Given the description of an element on the screen output the (x, y) to click on. 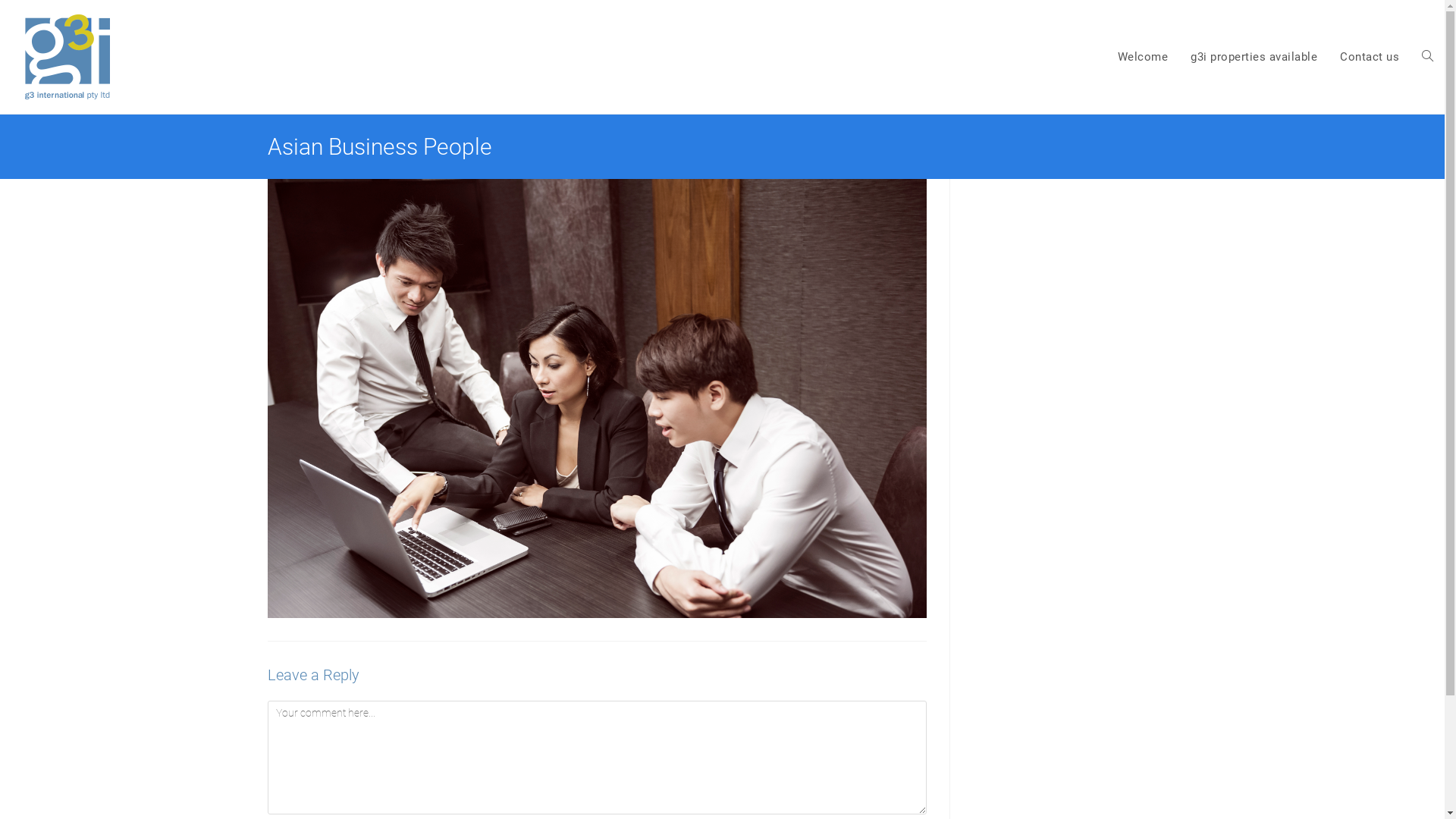
Welcome Element type: text (1142, 56)
g3i properties available Element type: text (1253, 56)
Contact us Element type: text (1369, 56)
